Given the description of an element on the screen output the (x, y) to click on. 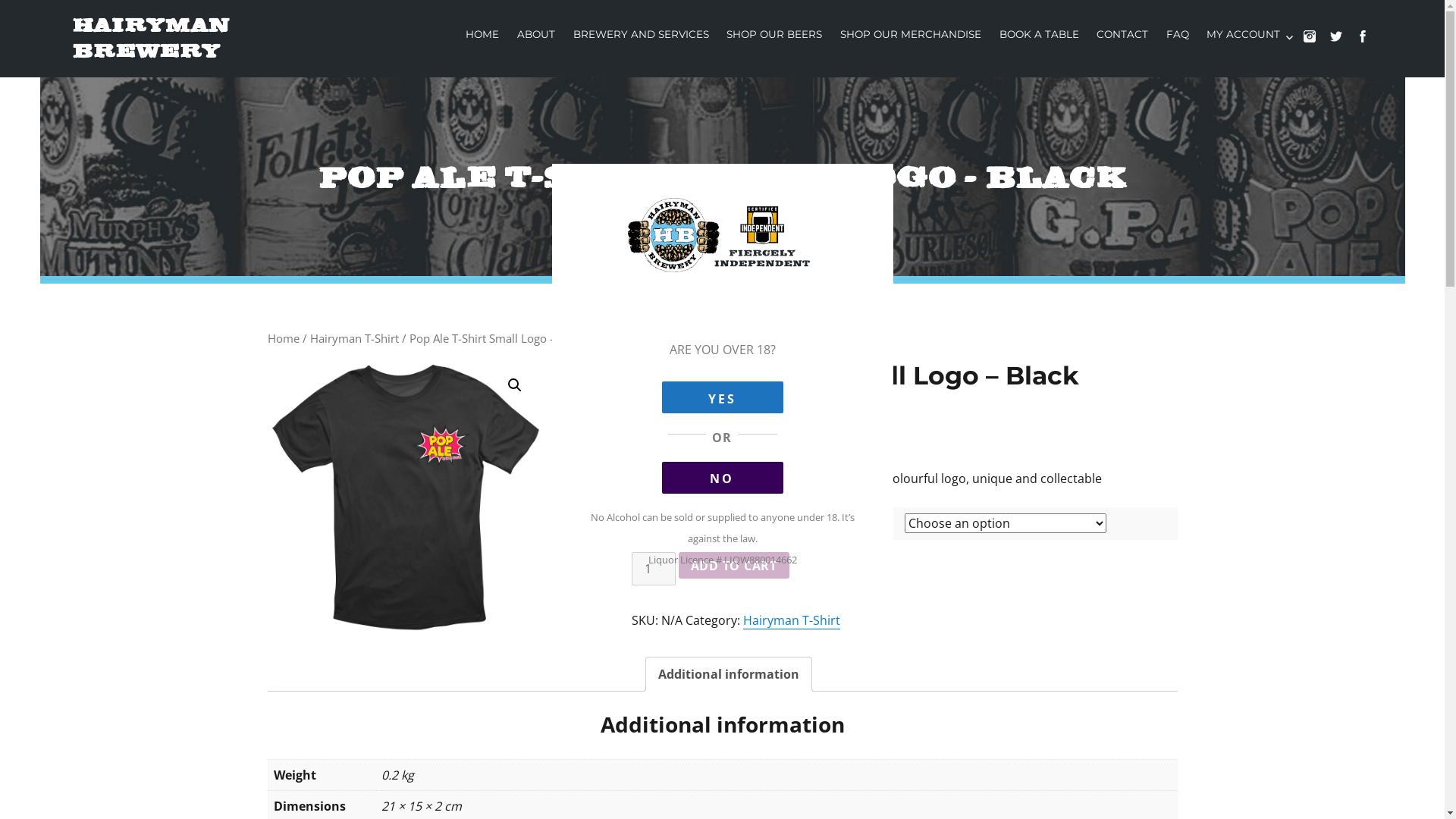
INSTAGRAM Element type: text (1316, 43)
HOME Element type: text (482, 34)
Home Element type: text (282, 337)
ADD TO CART Element type: text (733, 565)
TWITTER Element type: text (1343, 43)
YES Element type: text (721, 397)
MY ACCOUNT Element type: text (1250, 34)
Hairyman T-Shirt Element type: text (791, 619)
FAQ Element type: text (1177, 34)
BOOK A TABLE Element type: text (1039, 34)
HAIRYMAN BREWERY Element type: text (150, 37)
NO Element type: text (721, 477)
Hairyman T-Shirt Element type: text (353, 337)
Tshirts-Web-BLACK-Front-POP Element type: hover (402, 495)
SHOP OUR MERCHANDISE Element type: text (910, 34)
SHOP OUR BEERS Element type: text (774, 34)
ABOUT Element type: text (536, 34)
Additional information Element type: text (728, 673)
CONTACT Element type: text (1122, 34)
FACEBOOK Element type: text (1369, 43)
BREWERY AND SERVICES Element type: text (641, 34)
